Given the description of an element on the screen output the (x, y) to click on. 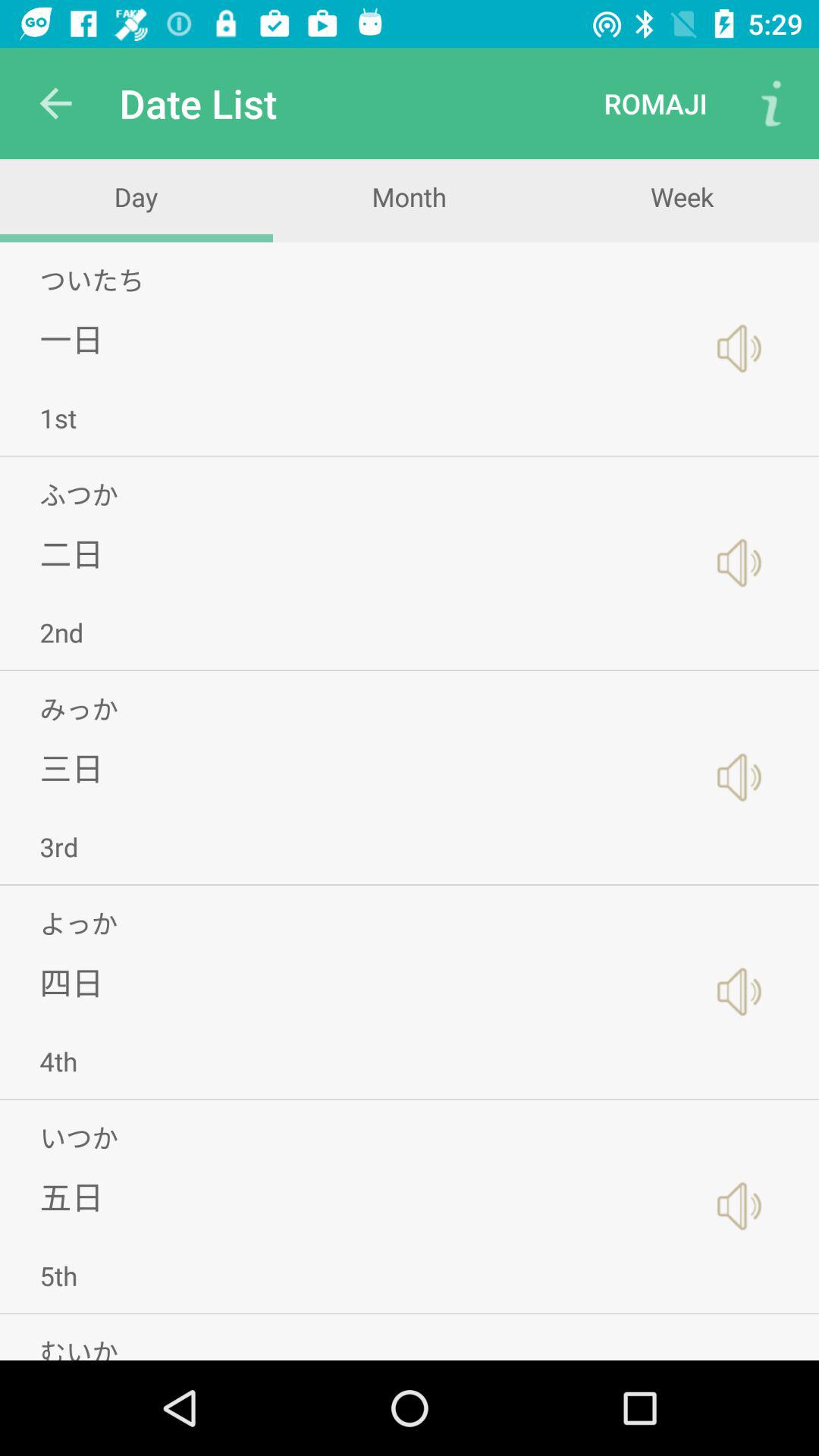
turn off the item next to the romaji item (771, 103)
